Given the description of an element on the screen output the (x, y) to click on. 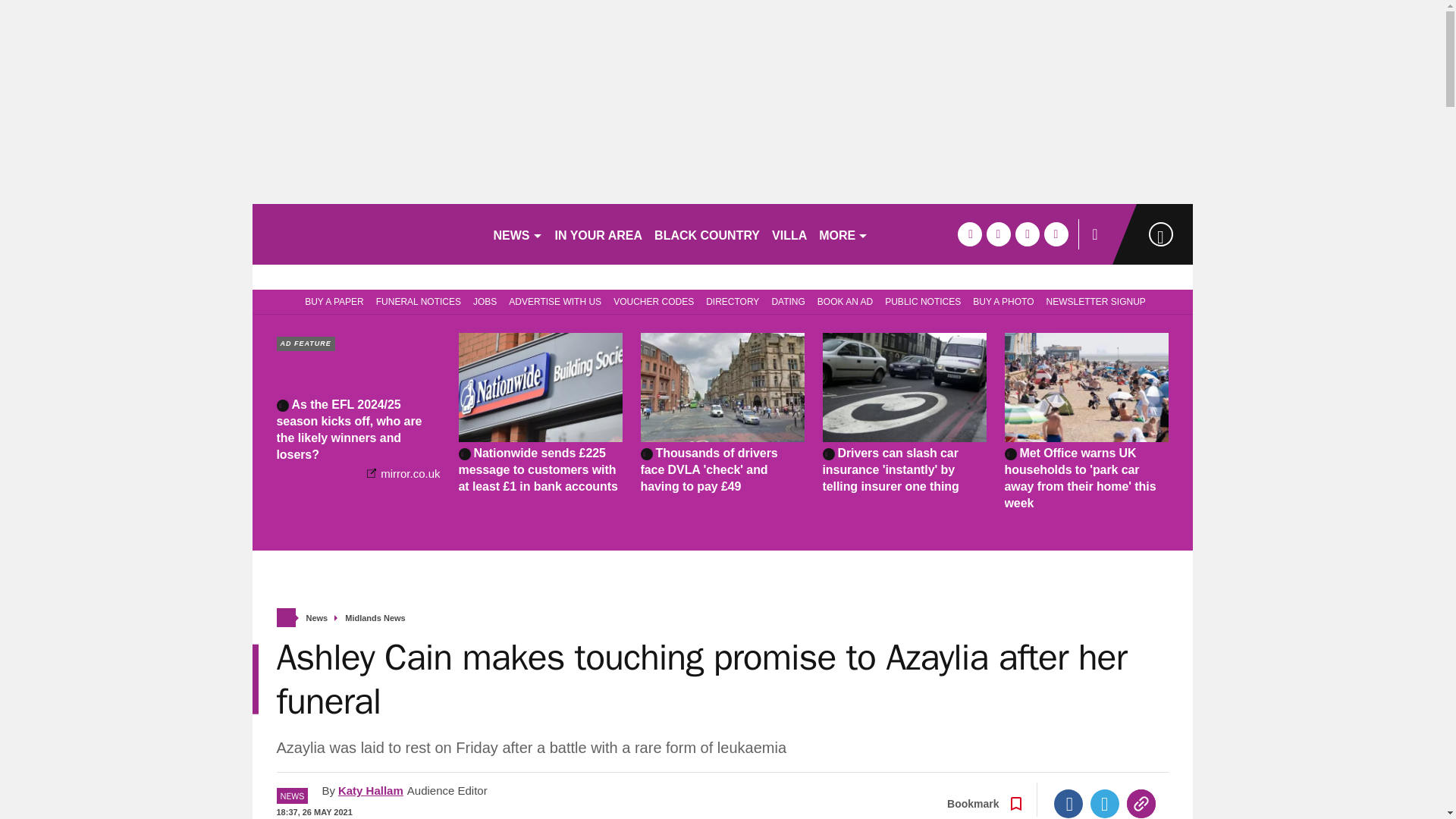
instagram (1055, 233)
twitter (997, 233)
NEWS (517, 233)
BLACK COUNTRY (706, 233)
MORE (843, 233)
Twitter (1104, 803)
birminghammail (365, 233)
facebook (968, 233)
IN YOUR AREA (598, 233)
tiktok (1026, 233)
